Given the description of an element on the screen output the (x, y) to click on. 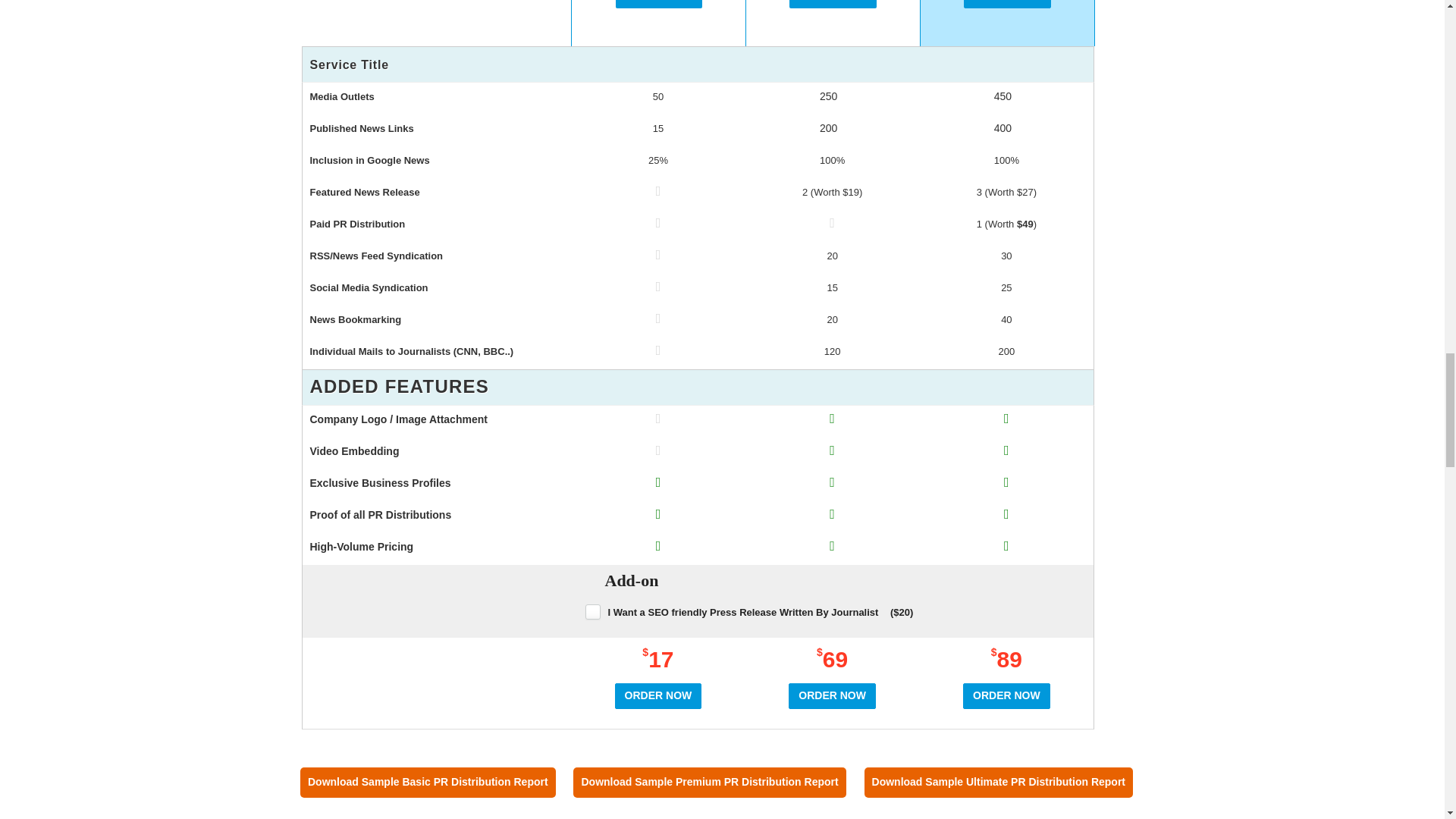
Order Now (1005, 696)
Order Now (832, 4)
Order Now (1007, 4)
Order Now (657, 696)
Order Now (832, 696)
Order Now (659, 4)
